Given the description of an element on the screen output the (x, y) to click on. 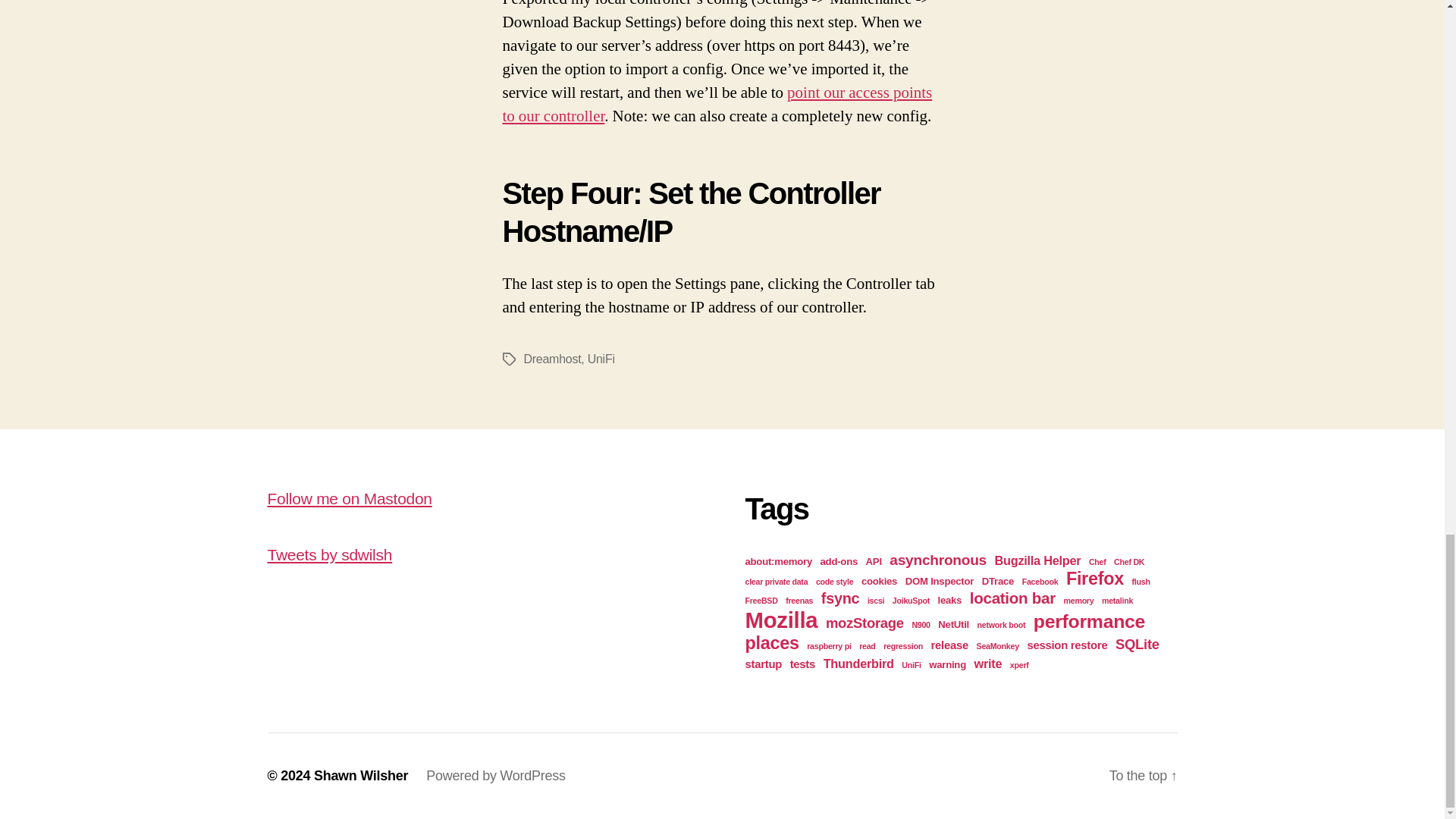
Follow me on Mastodon (348, 497)
Tweets by sdwilsh (328, 554)
Chef DK (1128, 561)
UniFi (601, 358)
DTrace (997, 581)
Dreamhost (551, 358)
cookies (878, 581)
add-ons (839, 561)
Bugzilla Helper (1037, 560)
API (874, 561)
clear private data (776, 581)
Firefox (1094, 578)
about:memory (777, 561)
flush (1141, 581)
Facebook (1040, 581)
